Given the description of an element on the screen output the (x, y) to click on. 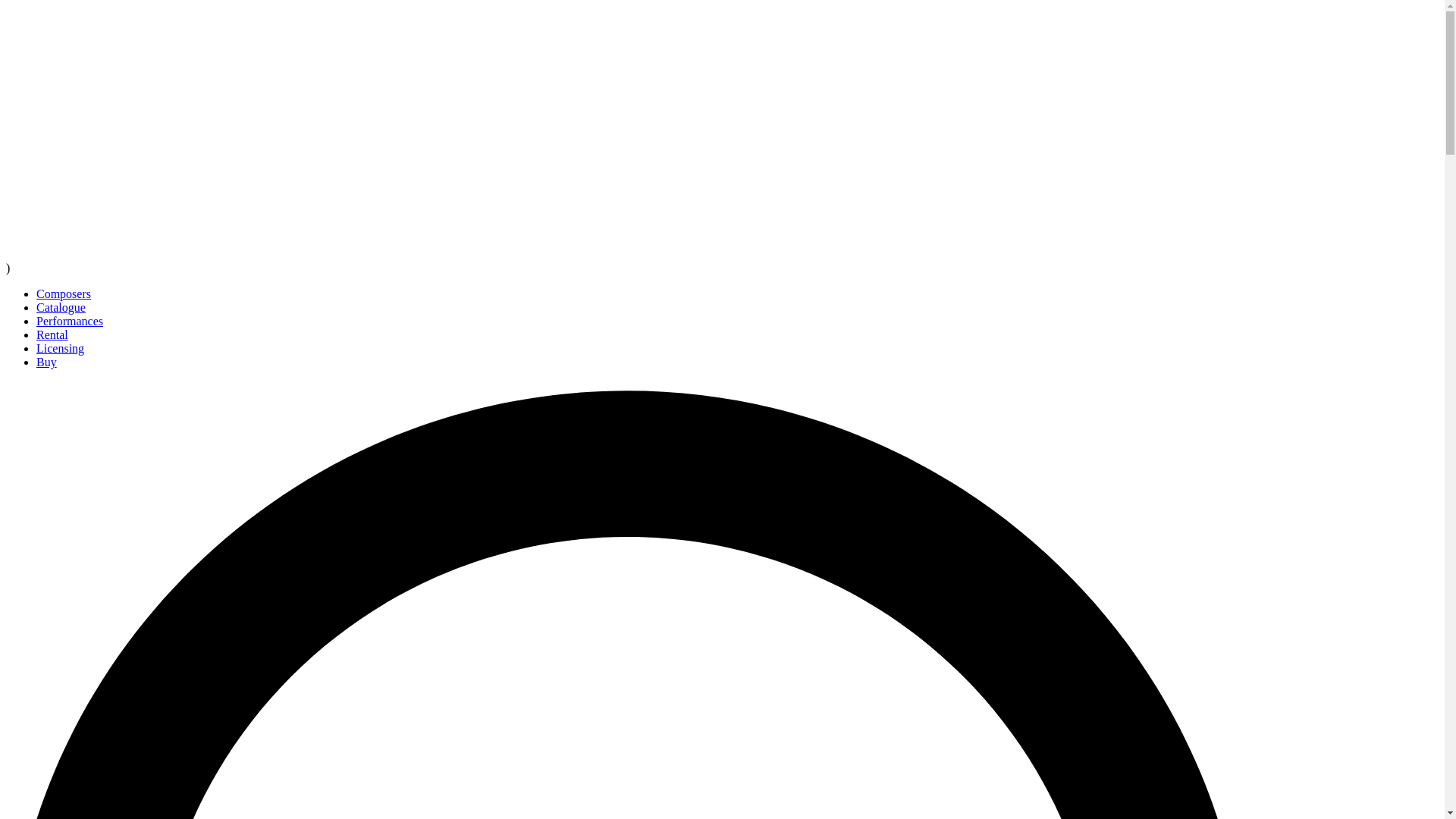
Composers (63, 293)
Catalogue (60, 307)
Buy (46, 361)
Licensing (60, 348)
Performances (69, 320)
Rental (52, 334)
